Given the description of an element on the screen output the (x, y) to click on. 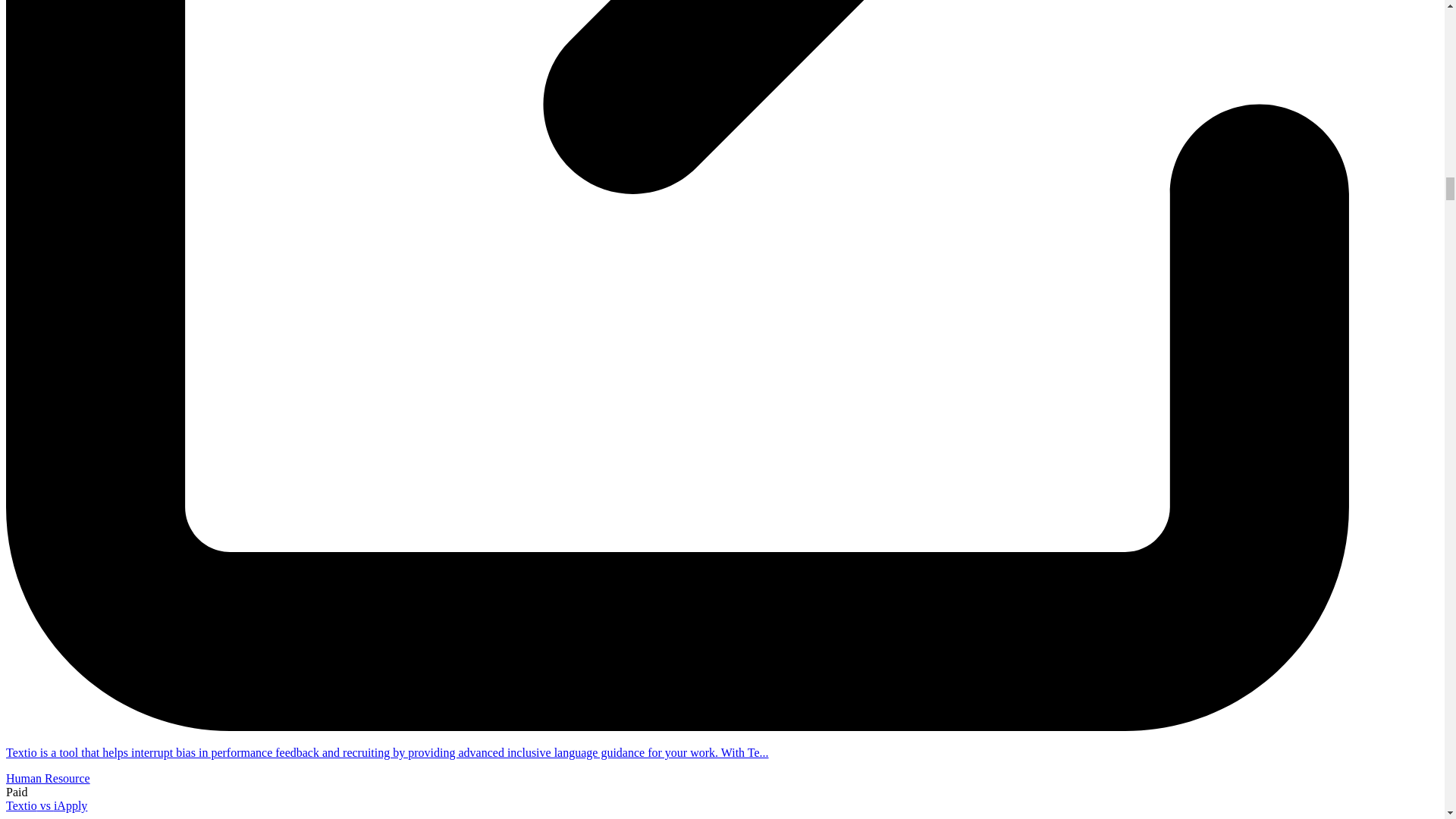
Textio vs iApply (46, 805)
